Given the description of an element on the screen output the (x, y) to click on. 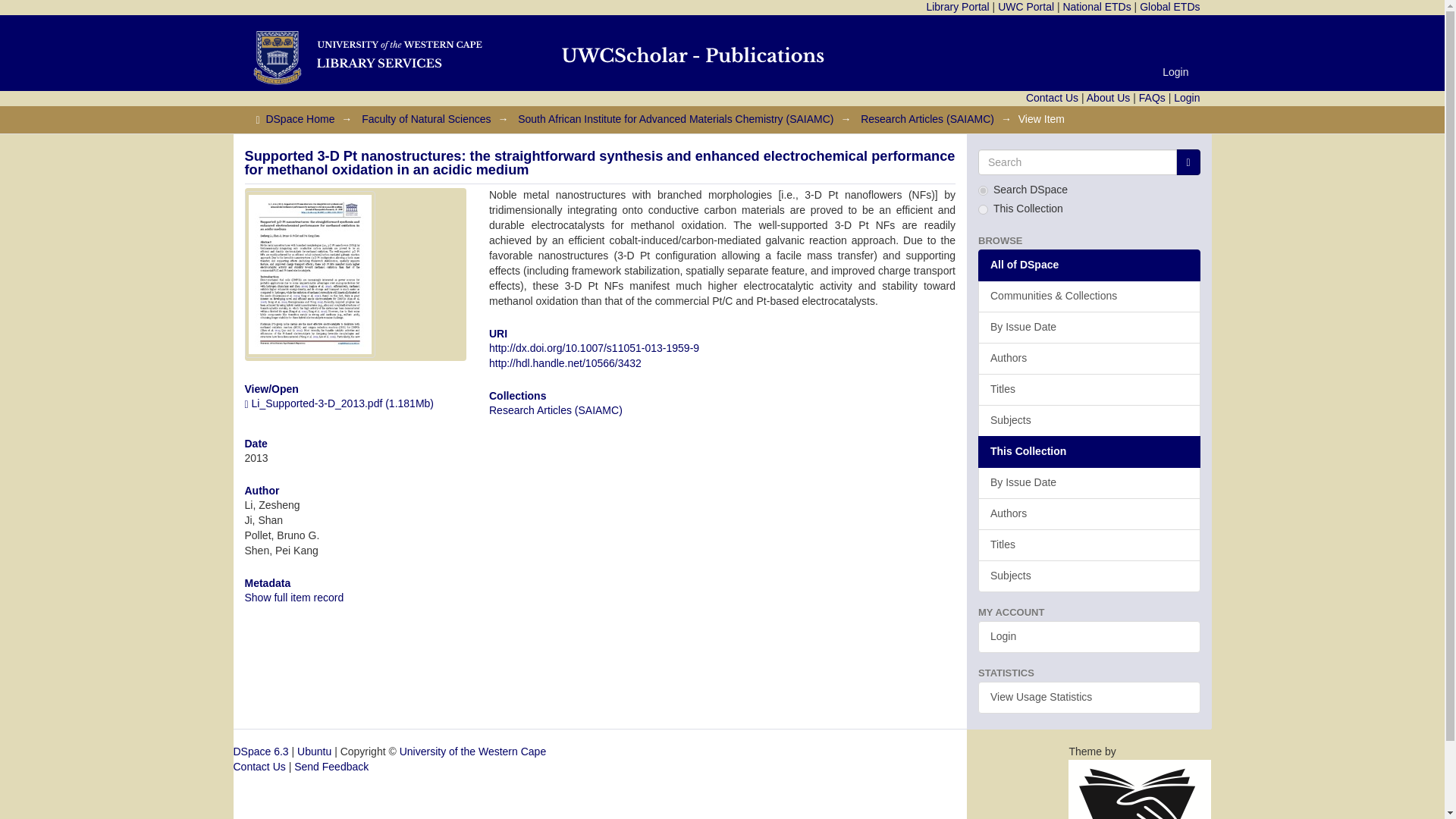
Atmire NV (1139, 813)
Login (1175, 71)
Authors (1088, 358)
All of DSpace (1088, 265)
Contact Us (1052, 97)
Library Portal (957, 6)
DSpace Home (299, 119)
National ETDs (1096, 6)
FAQs (1152, 97)
Login (1186, 97)
